Given the description of an element on the screen output the (x, y) to click on. 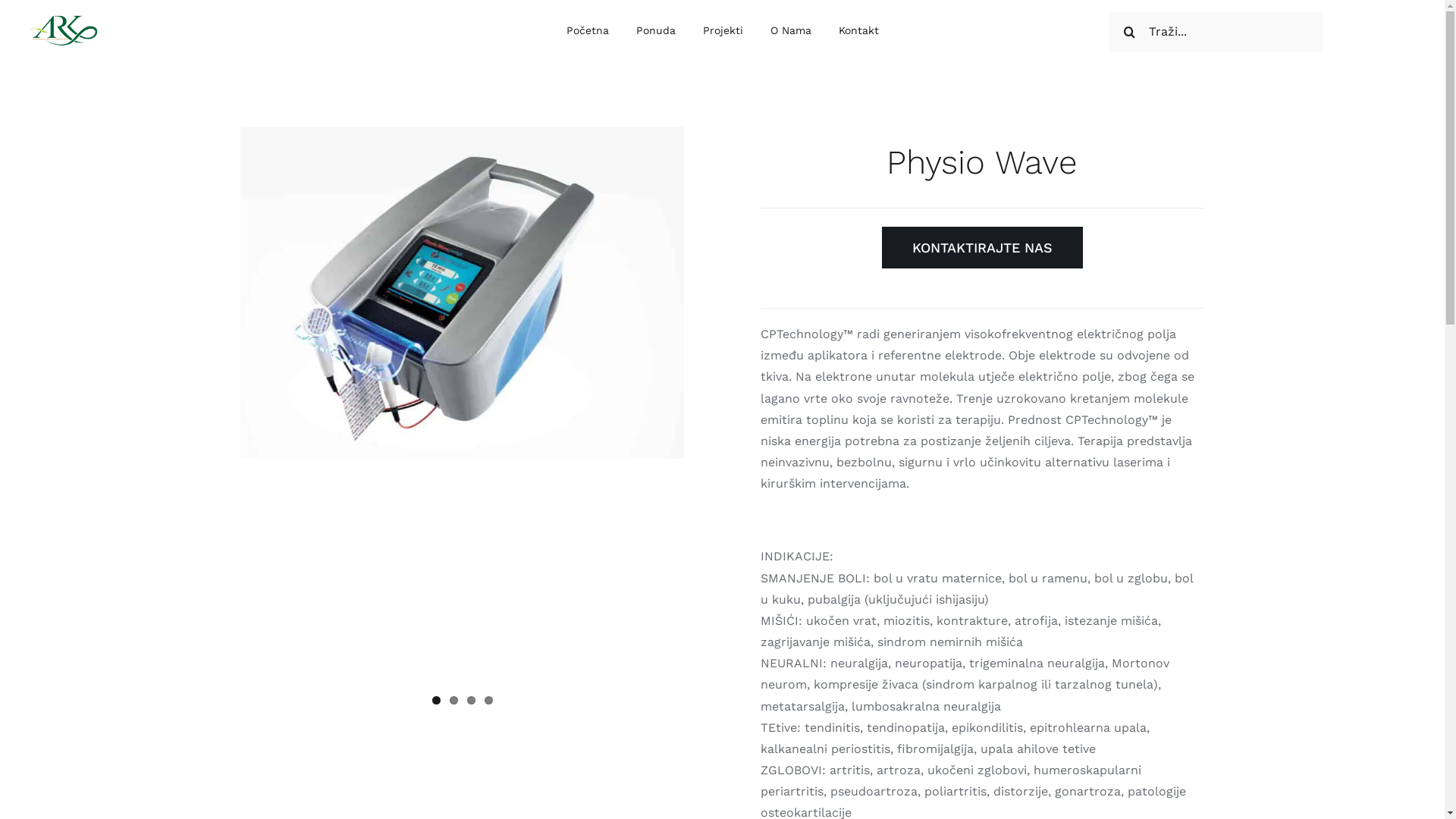
O Nama Element type: text (790, 31)
2 Element type: text (453, 700)
Projekti Element type: text (722, 31)
3 Element type: text (471, 700)
4 Element type: text (488, 700)
1 Element type: text (436, 700)
Ponuda Element type: text (654, 31)
KONTAKTIRAJTE NAS Element type: text (981, 247)
Kontakt Element type: text (858, 31)
